Given the description of an element on the screen output the (x, y) to click on. 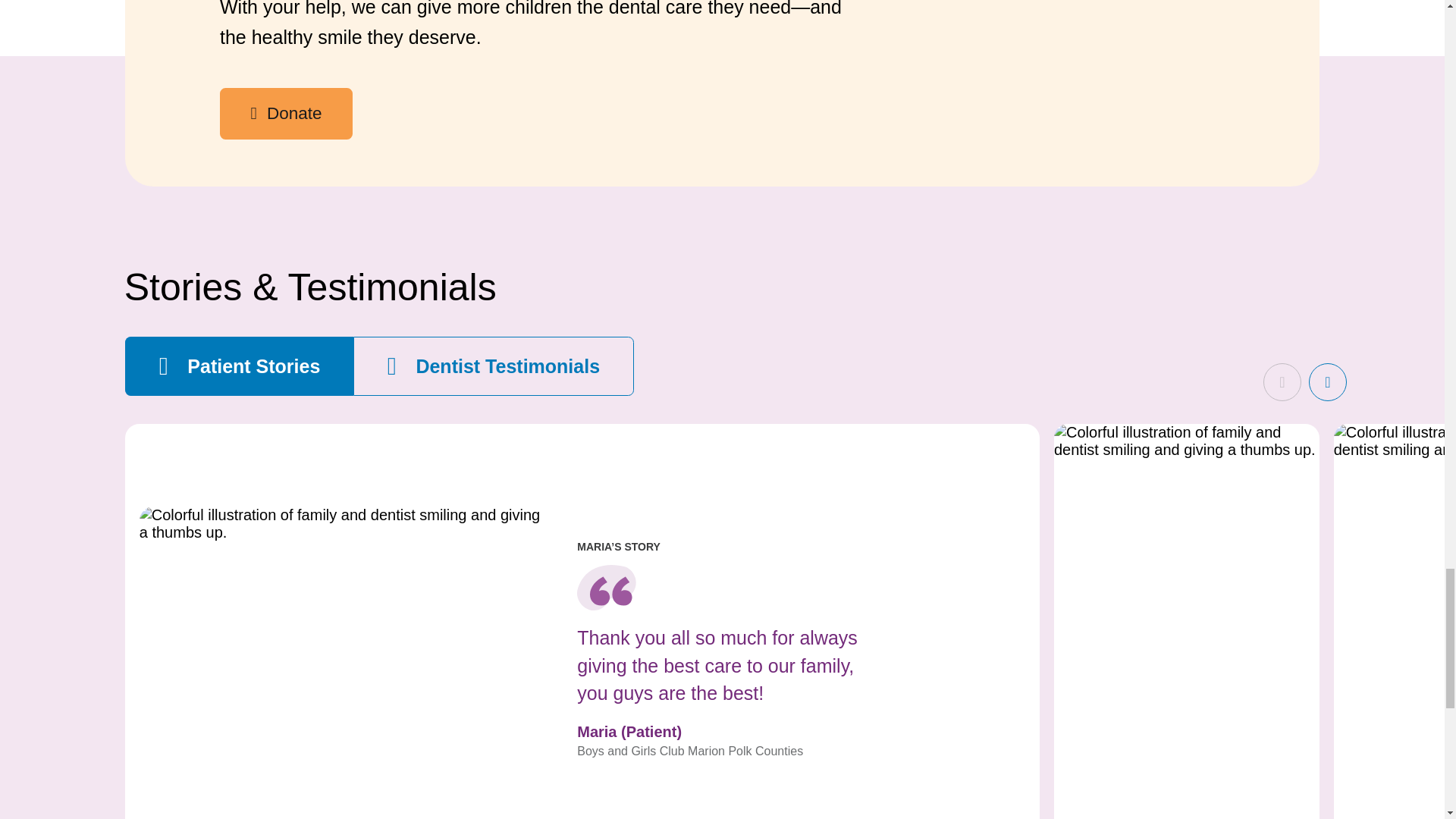
Donate (285, 113)
